Given the description of an element on the screen output the (x, y) to click on. 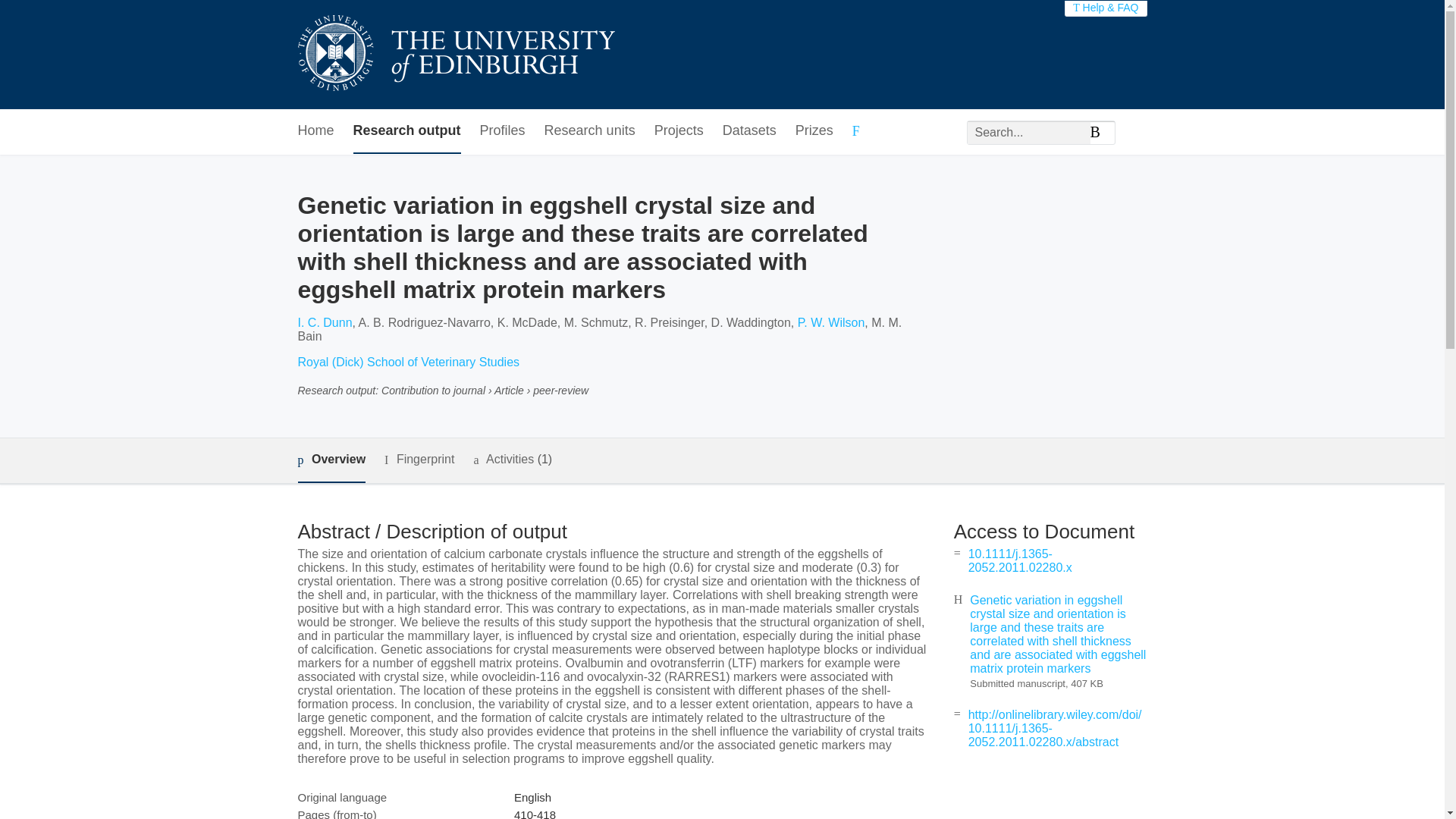
Research units (589, 130)
Profiles (502, 130)
Research output (407, 130)
P. W. Wilson (830, 322)
Fingerprint (419, 459)
Datasets (749, 130)
University of Edinburgh Research Explorer Home (455, 54)
Projects (678, 130)
